Given the description of an element on the screen output the (x, y) to click on. 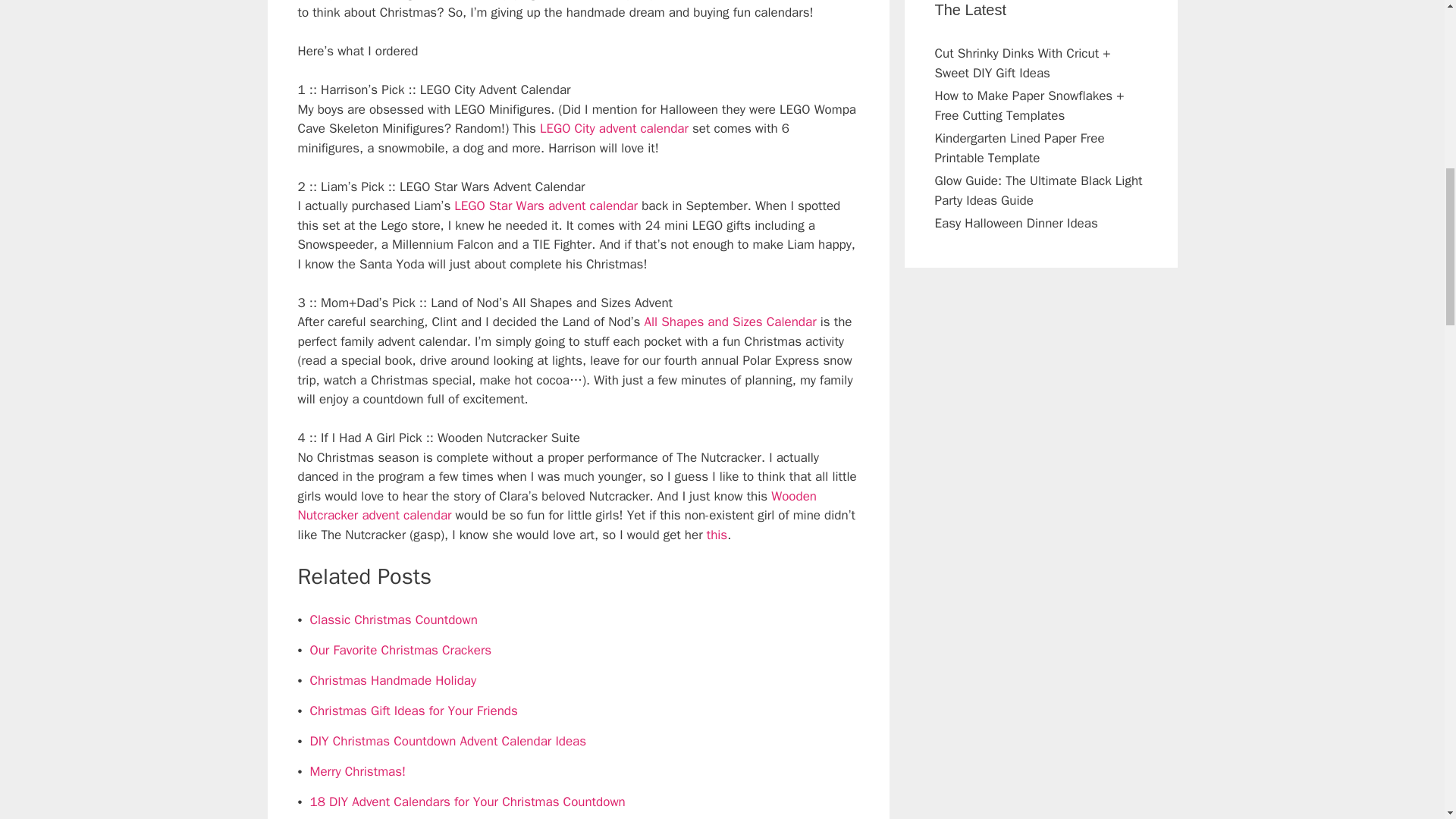
Classic Christmas Countdown (392, 619)
this (717, 534)
All Shapes and Sizes Calendar (730, 321)
LEGO Star Wars advent calendar (545, 205)
Wooden Nutcracker advent calendar (556, 506)
LEGO City advent calendar (614, 128)
Our Favorite Christmas Crackers (400, 650)
